Given the description of an element on the screen output the (x, y) to click on. 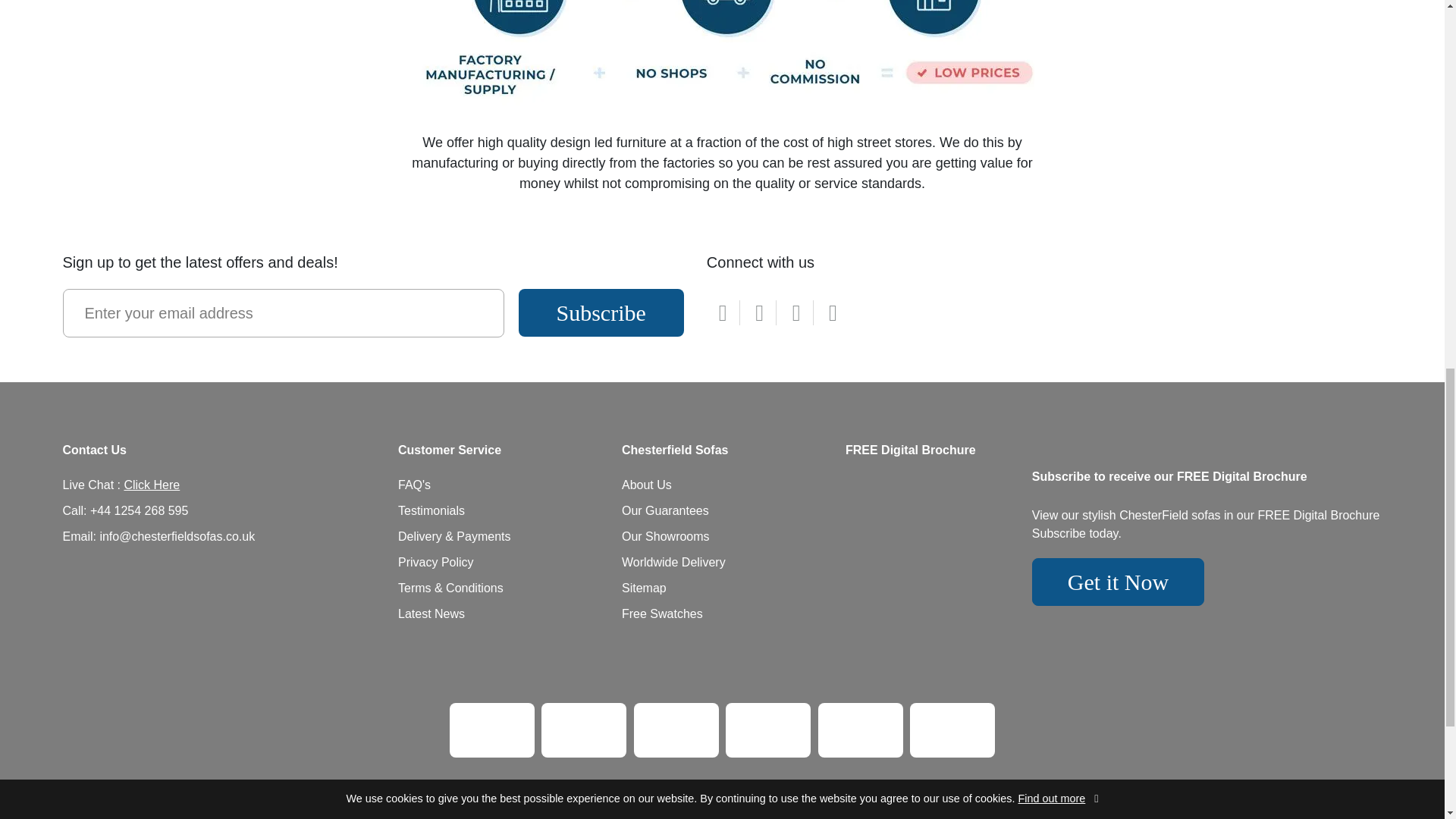
Subscribe (601, 311)
Chat Request (151, 484)
